Given the description of an element on the screen output the (x, y) to click on. 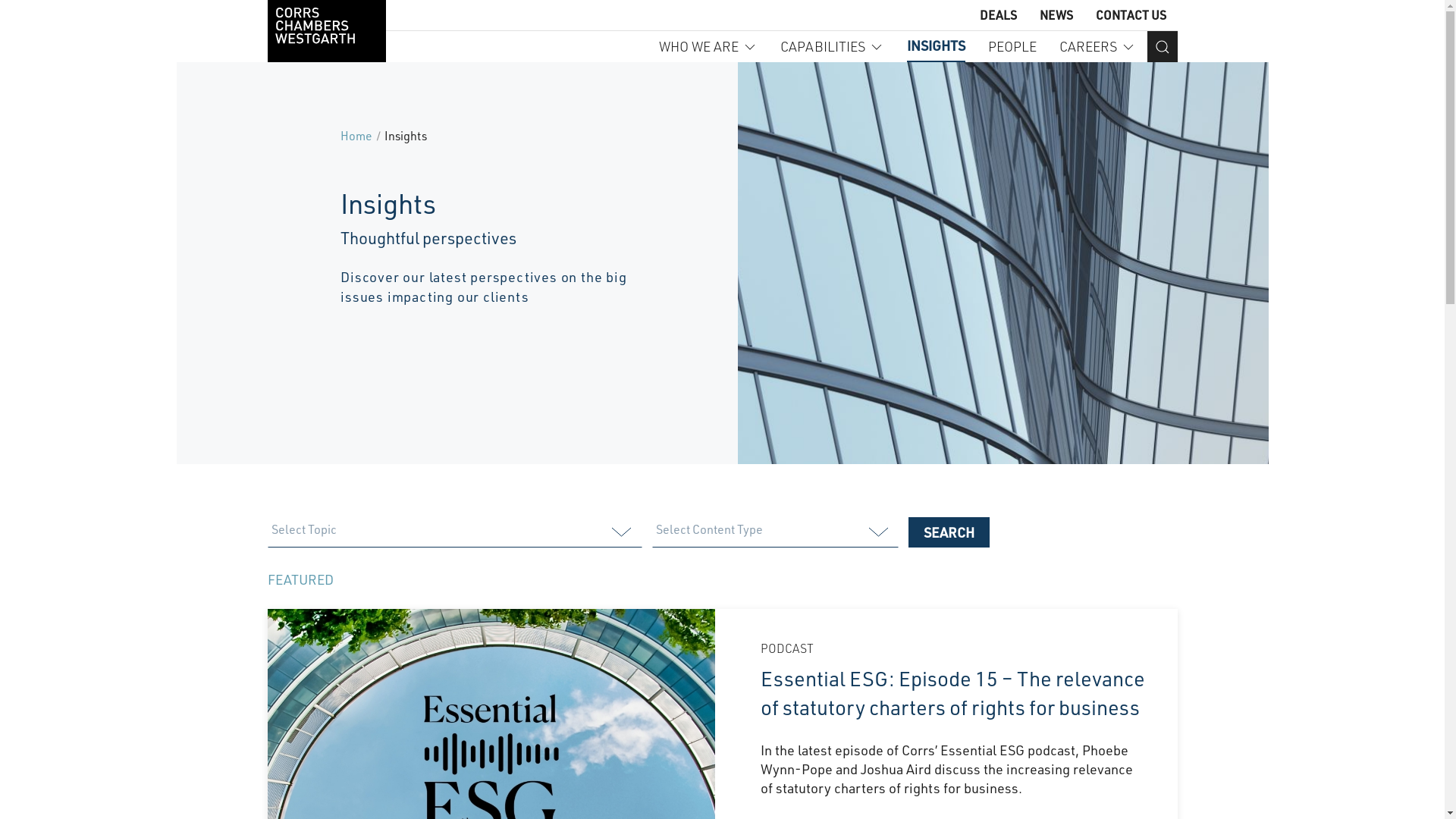
WHO WE ARE Element type: text (707, 46)
SEARCH Element type: text (948, 532)
NEWS Element type: text (1055, 15)
INSIGHTS Element type: text (935, 46)
PEOPLE Element type: text (1011, 46)
CAPABILITIES Element type: text (831, 46)
CONTACT US Element type: text (1130, 15)
DEALS Element type: text (997, 15)
Home Element type: text (356, 135)
CAREERS Element type: text (1096, 46)
